Given the description of an element on the screen output the (x, y) to click on. 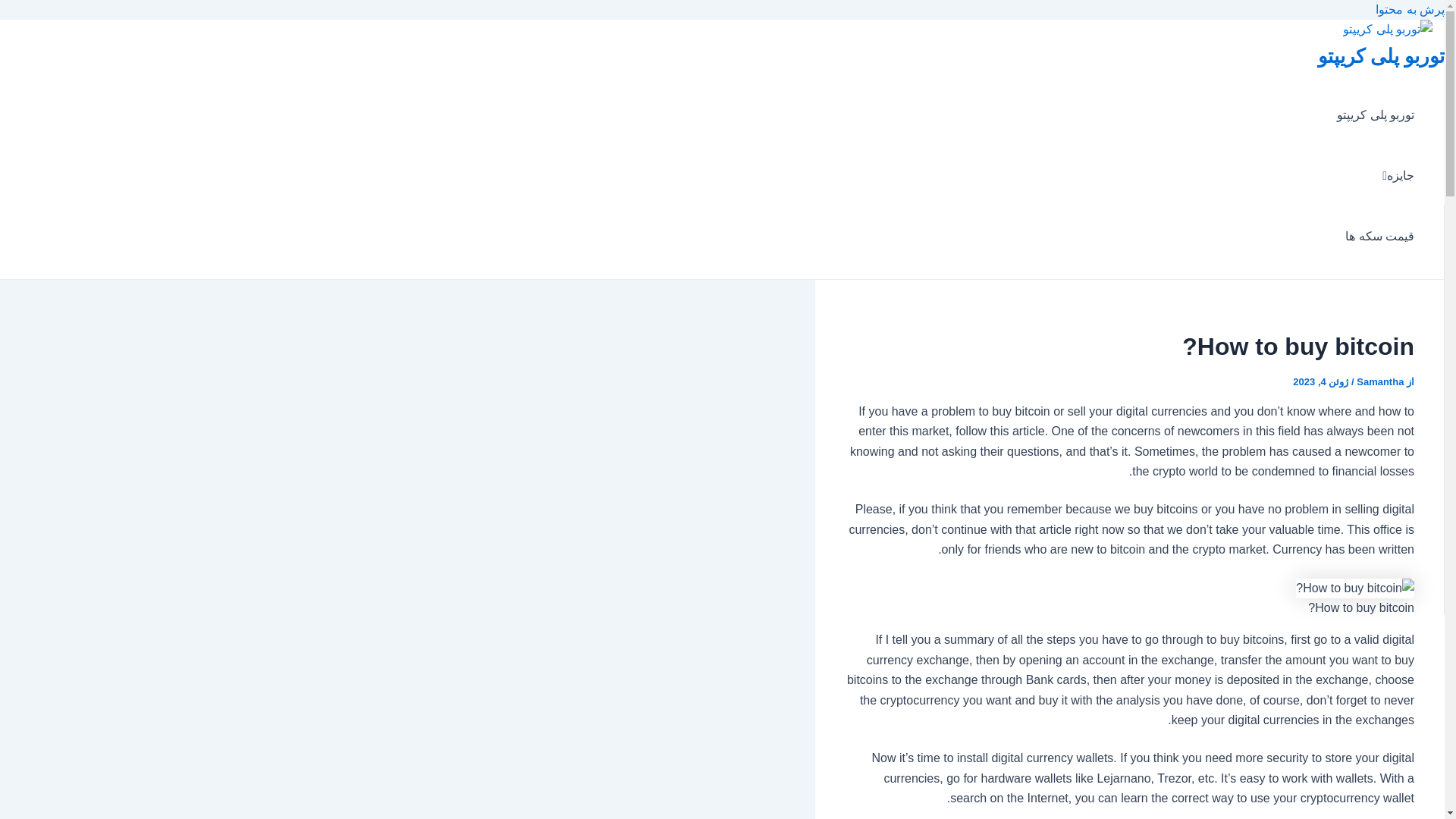
Samantha (1379, 381)
